Given the description of an element on the screen output the (x, y) to click on. 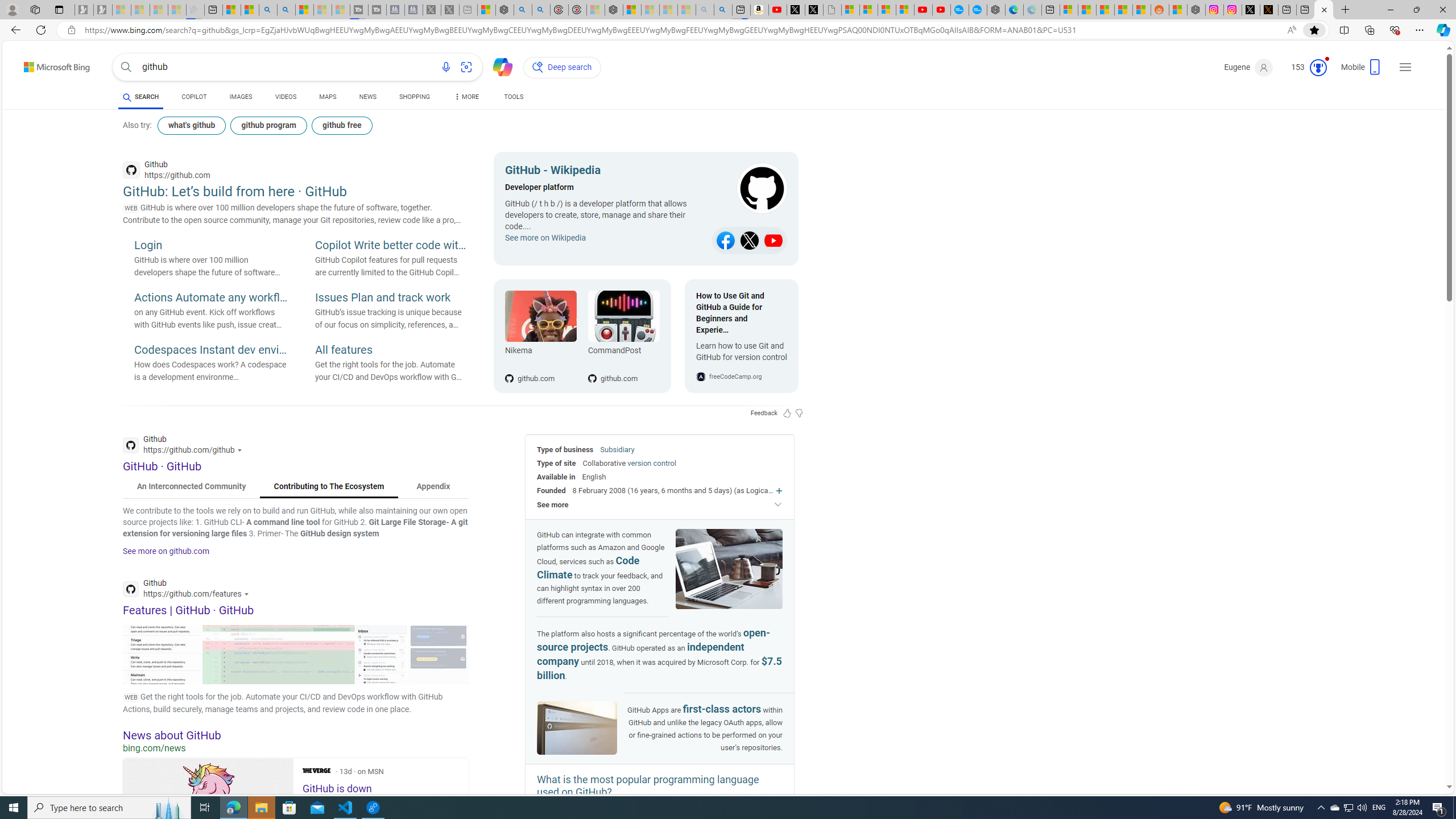
AutomationID: mfa_root (1406, 752)
Subsidiary (616, 449)
View details (437, 653)
Class: medal-circled (1317, 67)
NEWS (367, 96)
Contributing to The Ecosystem (328, 486)
